Given the description of an element on the screen output the (x, y) to click on. 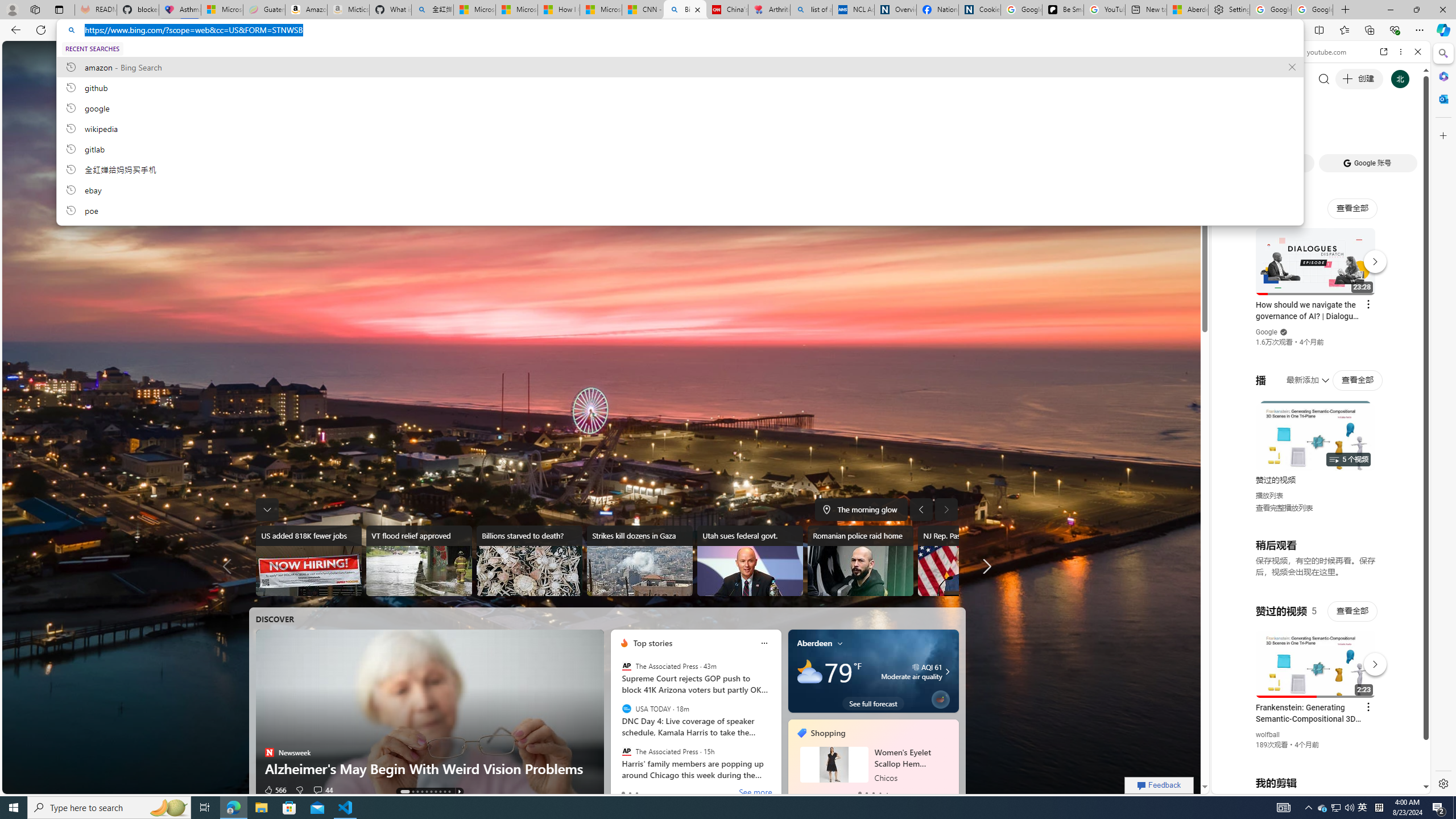
Copilot (269, 54)
Microsoft 365 (1442, 76)
AutomationID: tab-4 (426, 791)
Copilot (269, 54)
AutomationID: tab-8 (444, 791)
Mostly cloudy (809, 671)
US added 818K fewer jobs (307, 560)
Tab actions menu (58, 9)
